Given the description of an element on the screen output the (x, y) to click on. 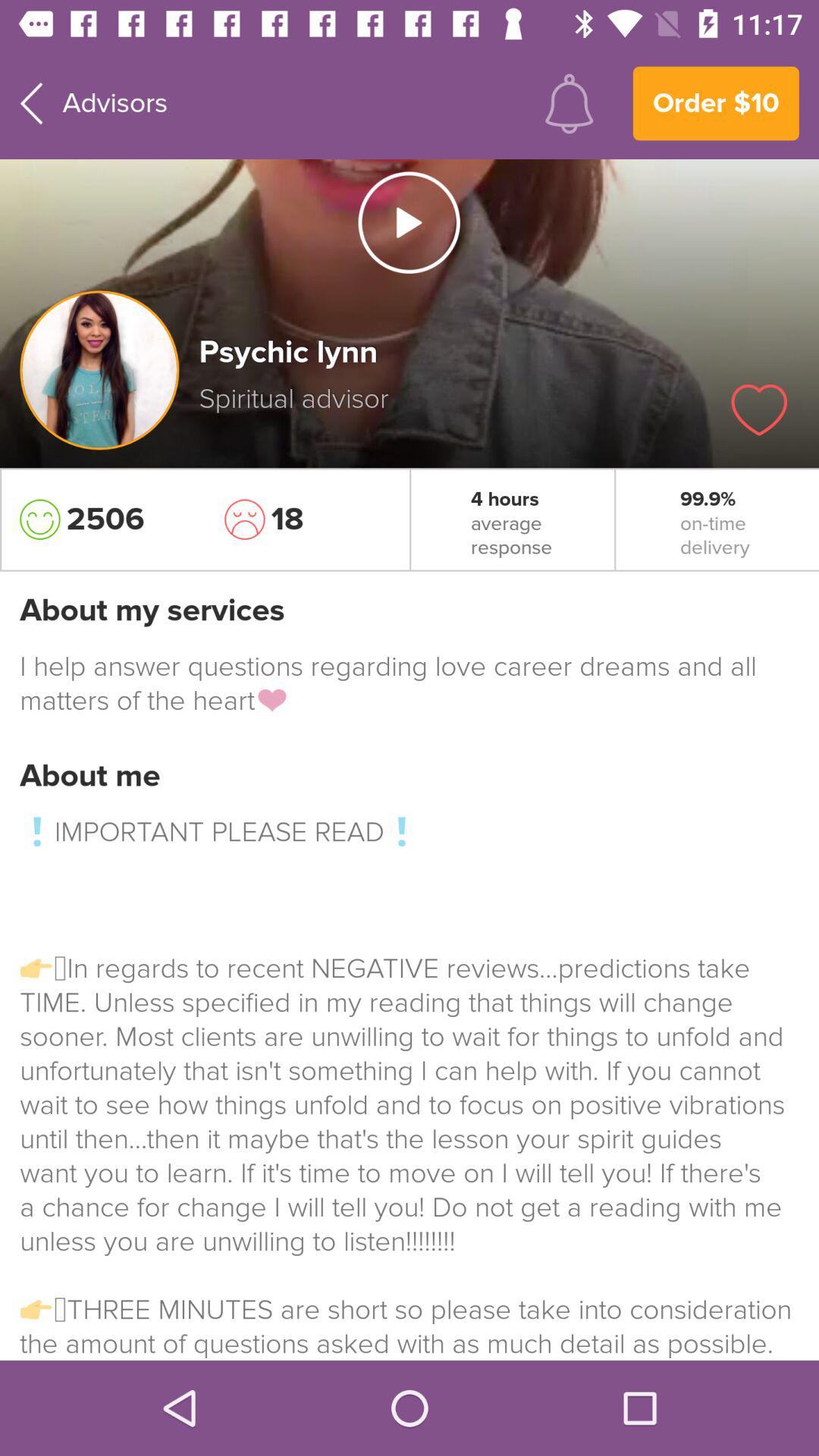
turn on the item next to the 4 hours (306, 519)
